Given the description of an element on the screen output the (x, y) to click on. 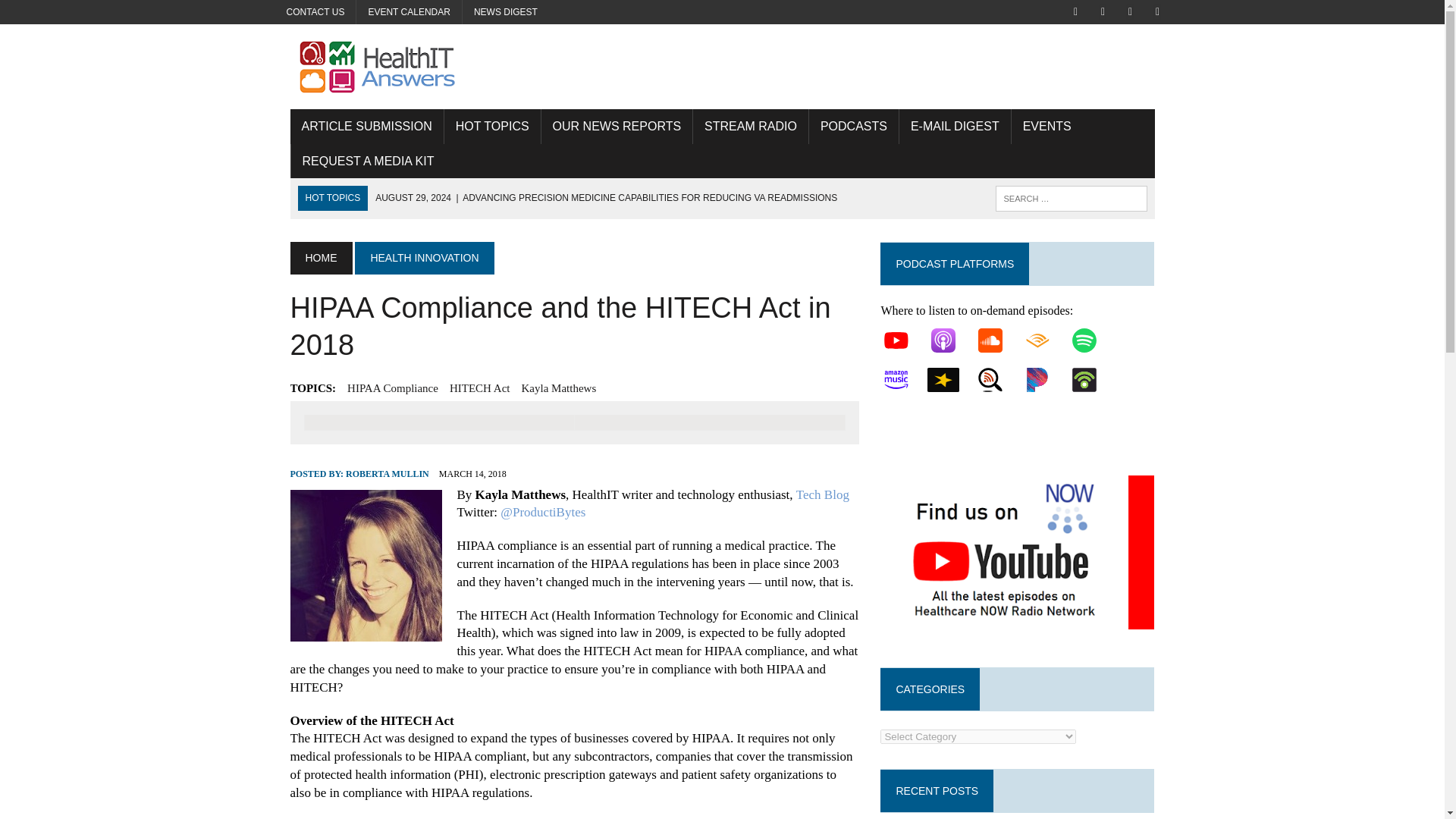
EVENTS (1047, 126)
Amazon-Music (903, 379)
ROBERTA MULLIN (387, 473)
REQUEST A MEDIA KIT (368, 161)
EVENT CALENDAR (408, 12)
Health IT Answers (721, 66)
HEALTH INNOVATION (424, 257)
HOME (320, 257)
Kayla Matthews (558, 388)
STREAM RADIO (750, 126)
